Given the description of an element on the screen output the (x, y) to click on. 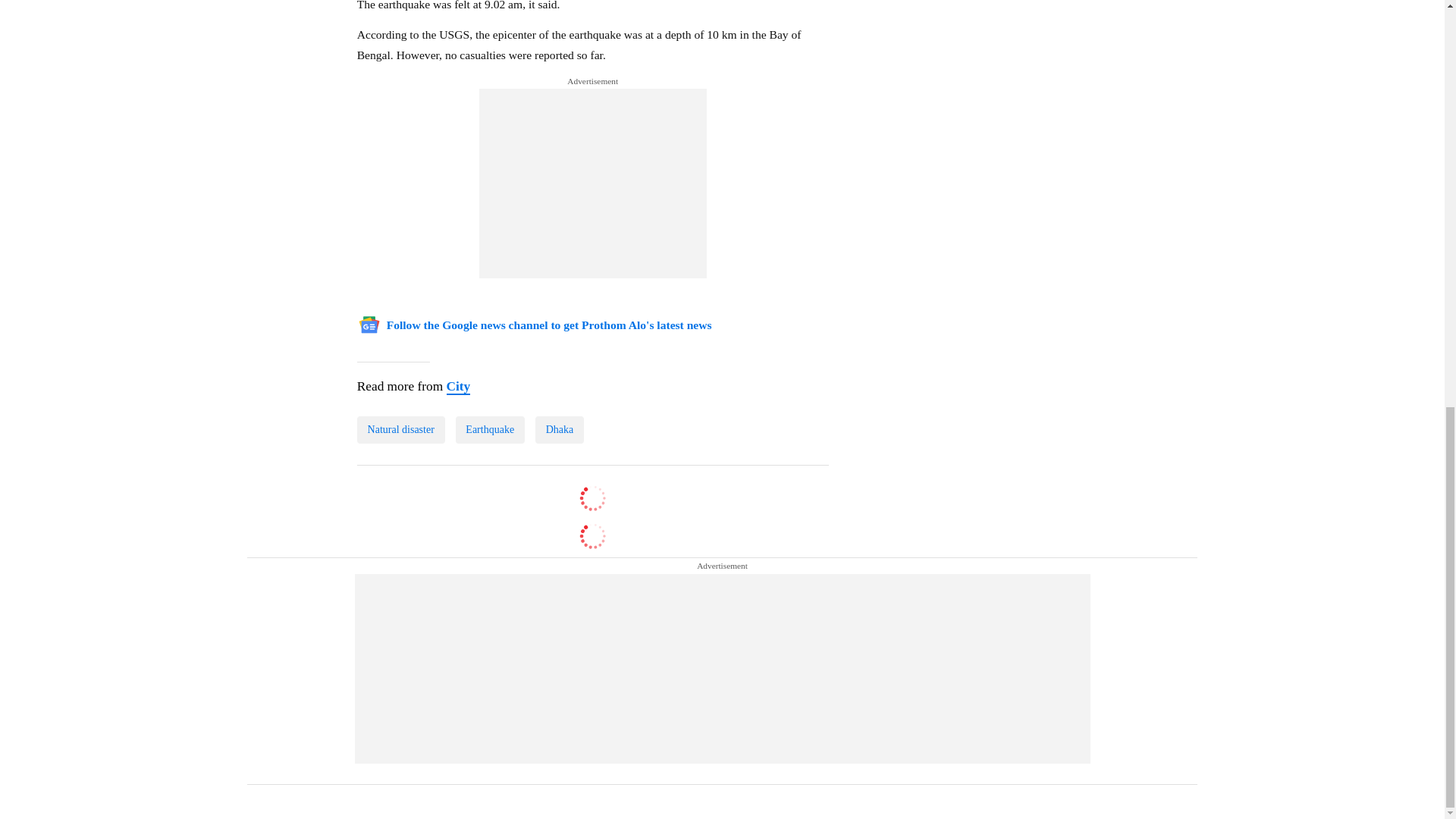
Natural disaster (400, 429)
City (457, 386)
Dhaka (559, 429)
Earthquake (489, 429)
